Given the description of an element on the screen output the (x, y) to click on. 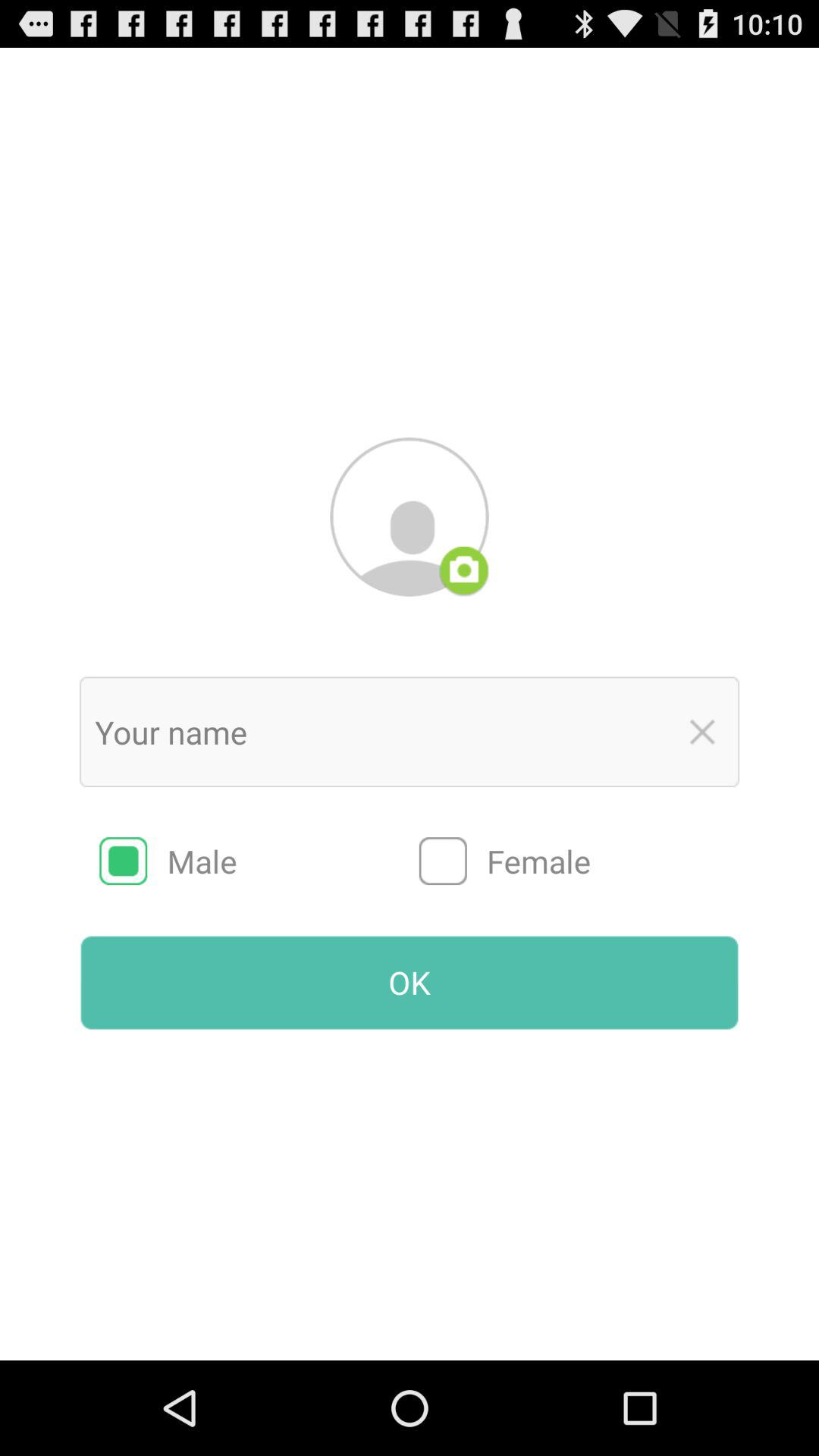
enter name (377, 731)
